Given the description of an element on the screen output the (x, y) to click on. 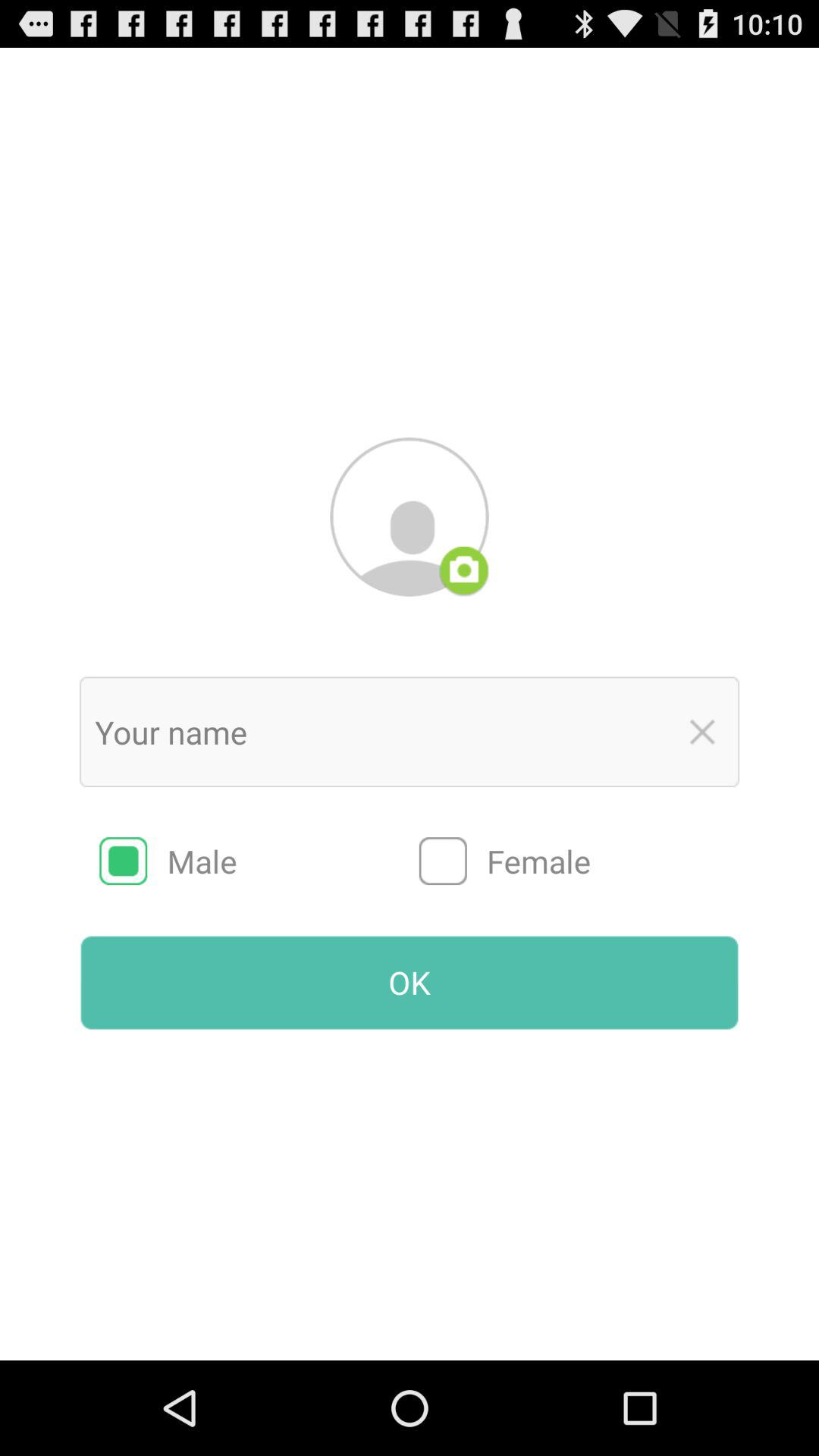
enter name (377, 731)
